Given the description of an element on the screen output the (x, y) to click on. 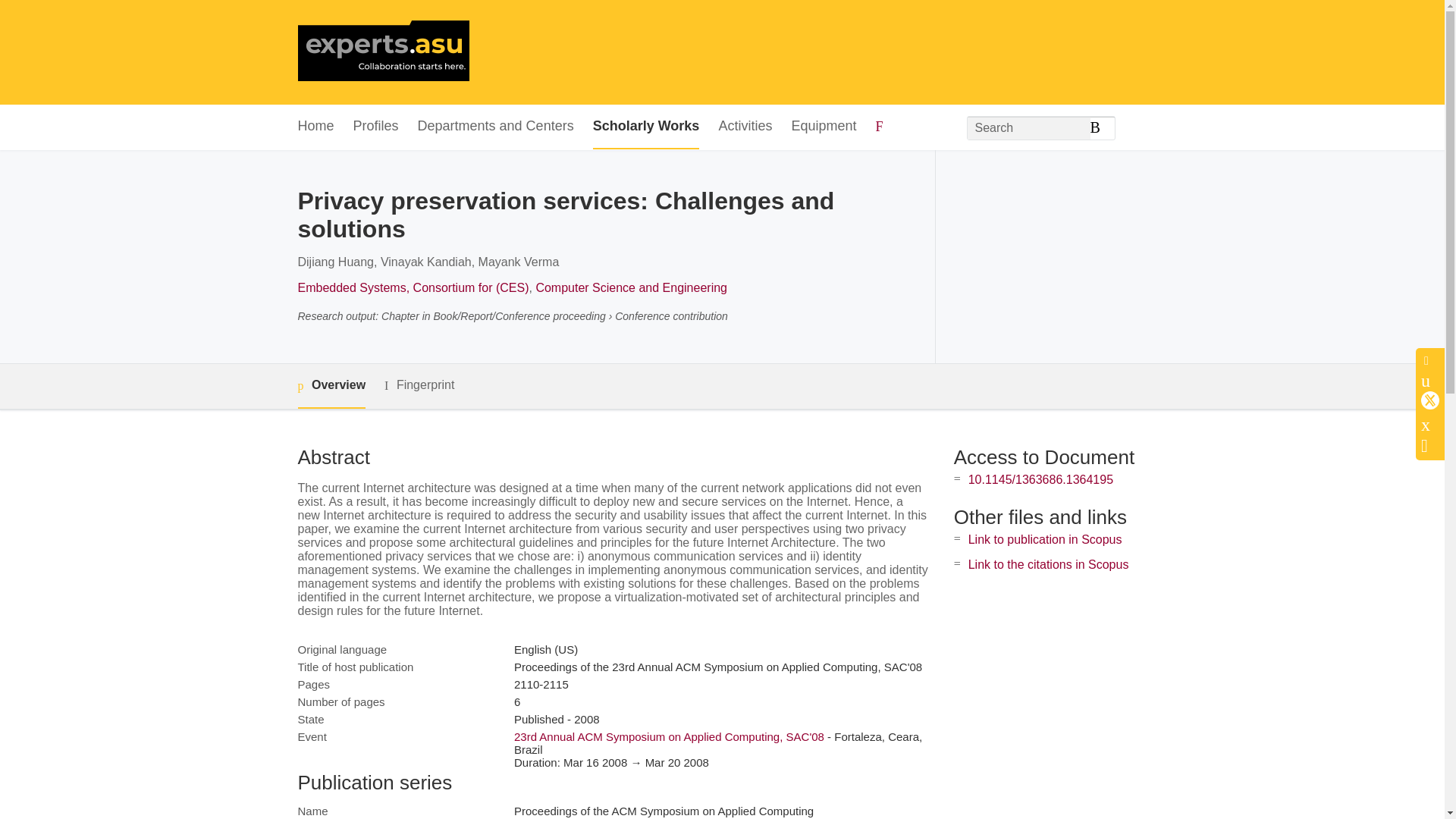
Home (315, 126)
Activities (744, 126)
Profiles (375, 126)
Scholarly Works (646, 126)
Departments and Centers (495, 126)
Arizona State University Home (382, 52)
Overview (331, 385)
Link to publication in Scopus (1045, 539)
Equipment (823, 126)
23rd Annual ACM Symposium on Applied Computing, SAC'08 (668, 736)
Computer Science and Engineering (630, 287)
Fingerprint (419, 385)
Link to the citations in Scopus (1048, 563)
